Given the description of an element on the screen output the (x, y) to click on. 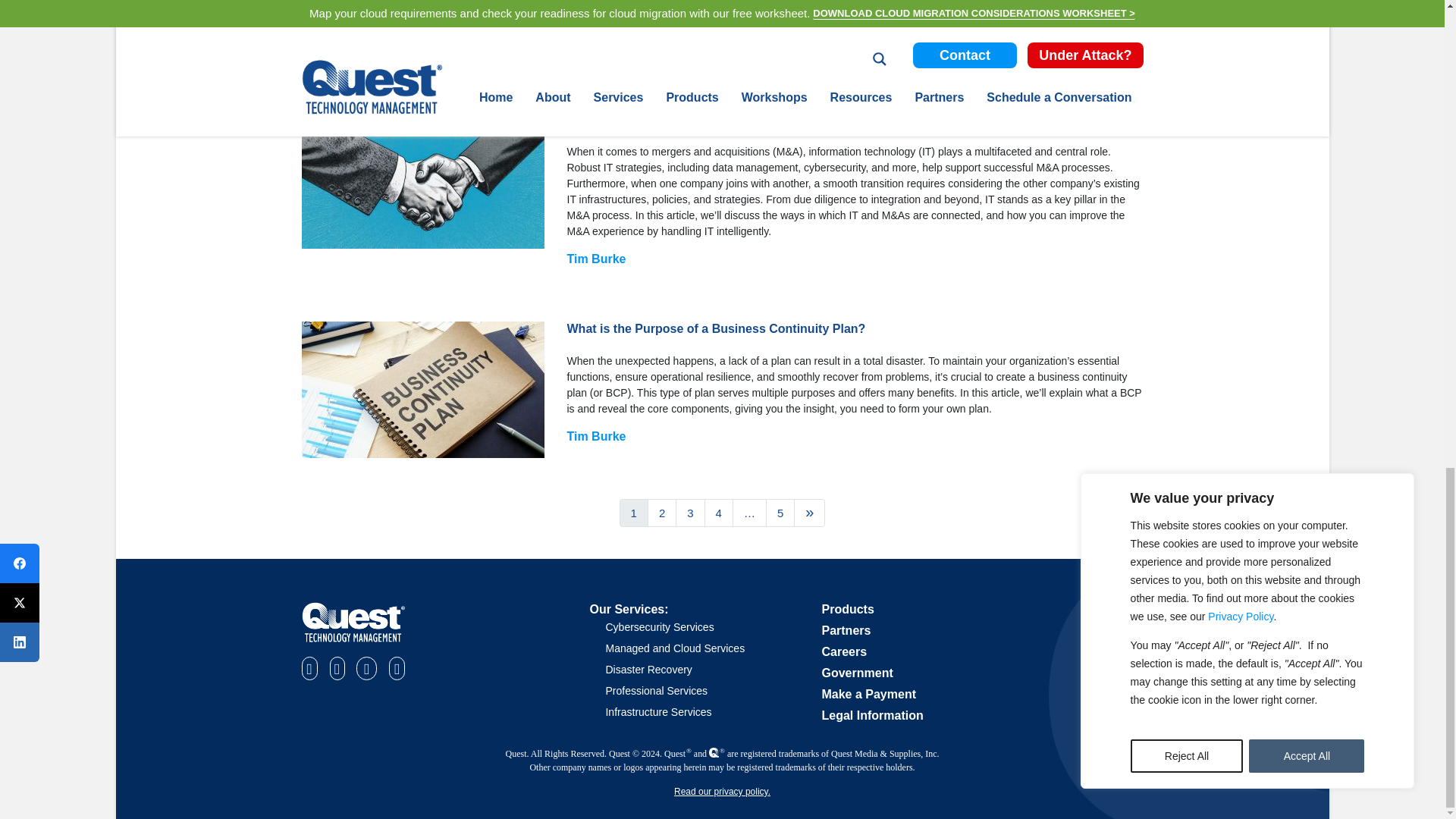
Understanding the Value of IT in Mergers and Acquisitions (422, 180)
What is the Purpose of a Business Continuity Plan? (422, 389)
Building a TPRM Framework That Protects Your Brand (422, 19)
